Given the description of an element on the screen output the (x, y) to click on. 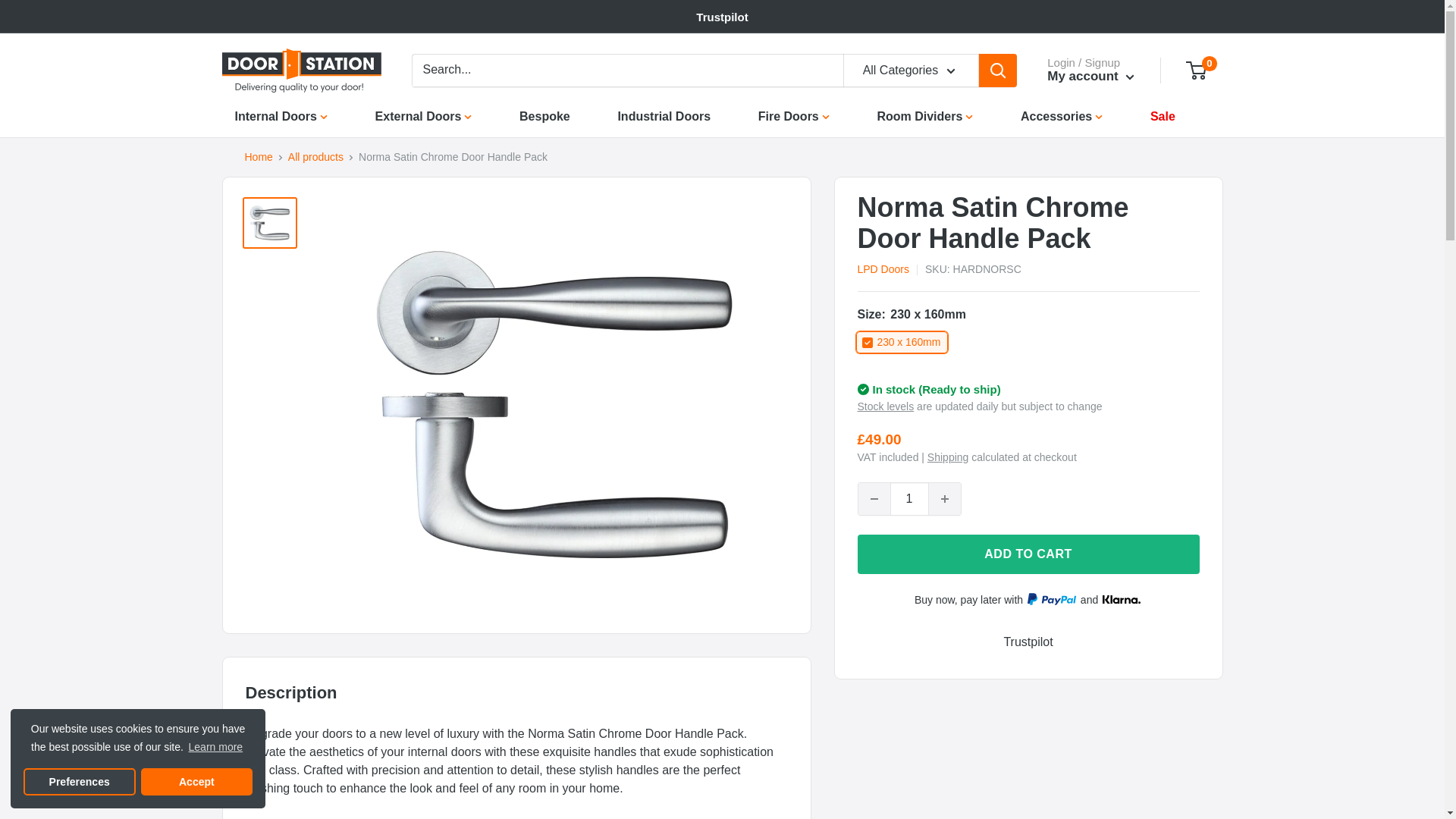
Learn more (215, 747)
1 (908, 499)
Trustpilot (721, 16)
230 x 160mm (901, 341)
Preferences (79, 781)
Increase quantity by 1 (943, 499)
Accept (197, 781)
Decrease quantity by 1 (874, 499)
